Given the description of an element on the screen output the (x, y) to click on. 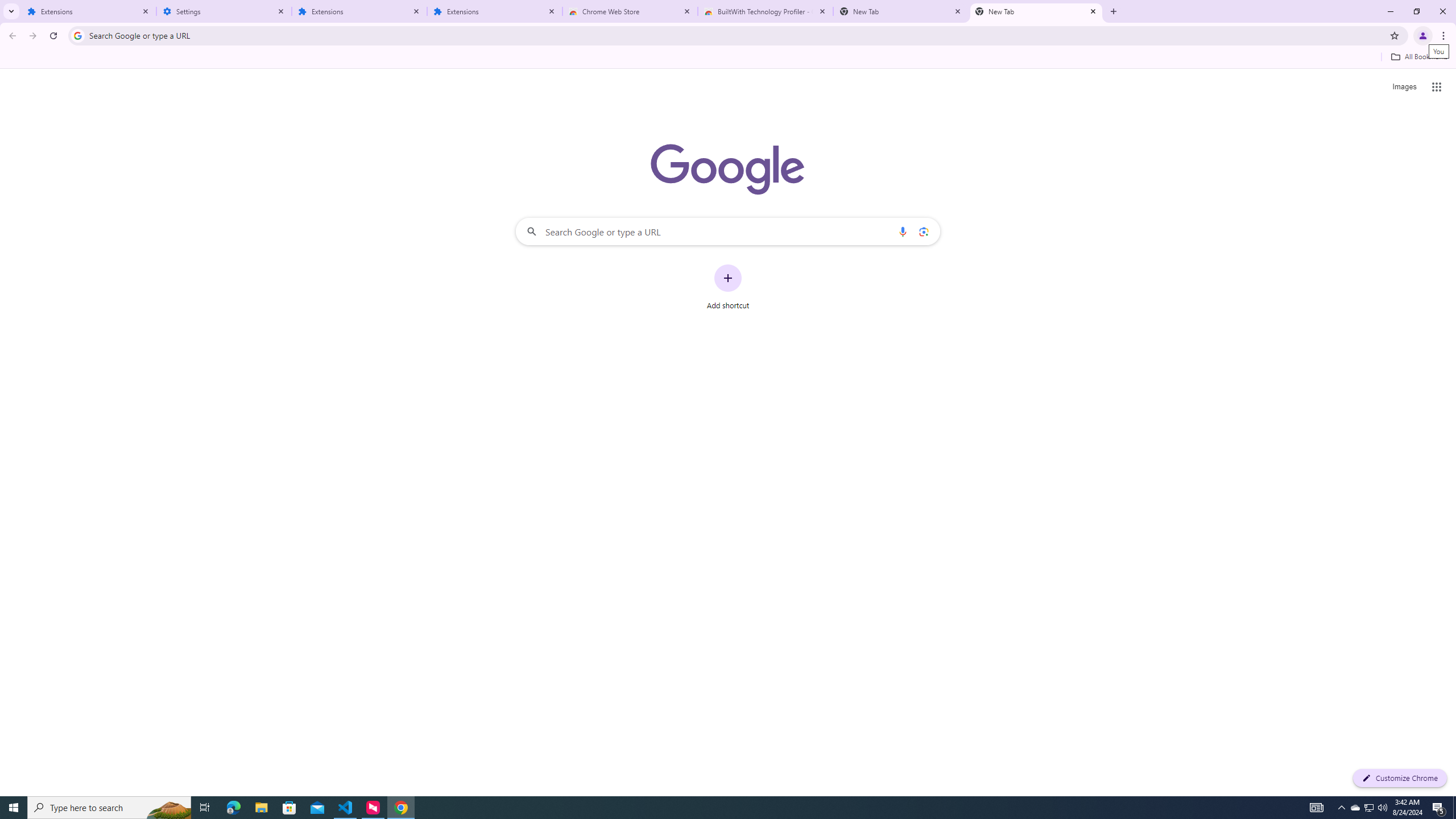
Chrome Web Store (630, 11)
Extensions (88, 11)
Search by voice (902, 230)
You (1422, 35)
Search icon (77, 35)
New Tab (1036, 11)
New Tab (901, 11)
Search for Images  (1403, 87)
Extensions (359, 11)
Add shortcut (727, 287)
